Given the description of an element on the screen output the (x, y) to click on. 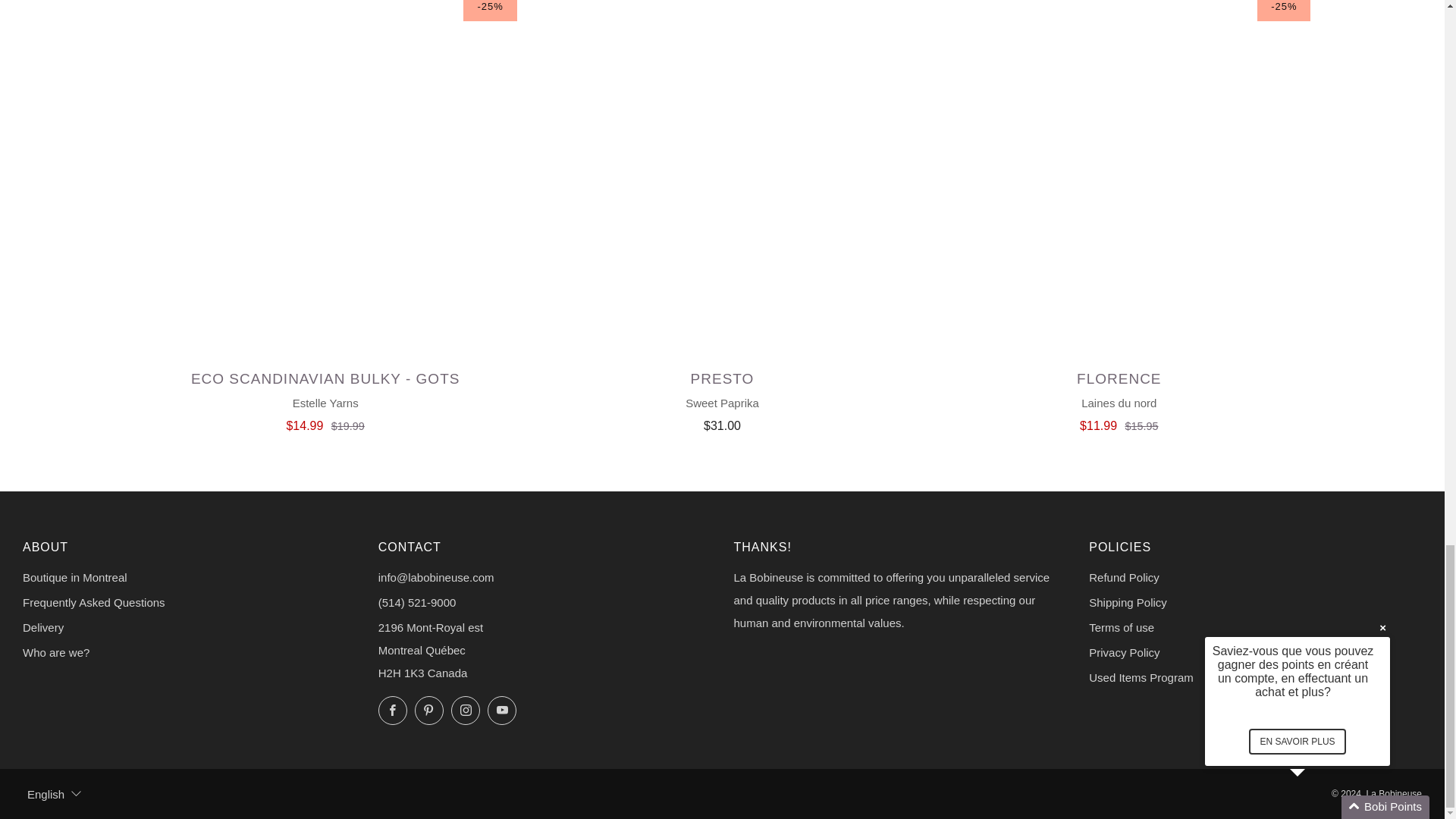
Florence (1118, 398)
Presto (721, 398)
Eco Scandinavian Bulky - GOTS (325, 398)
